Given the description of an element on the screen output the (x, y) to click on. 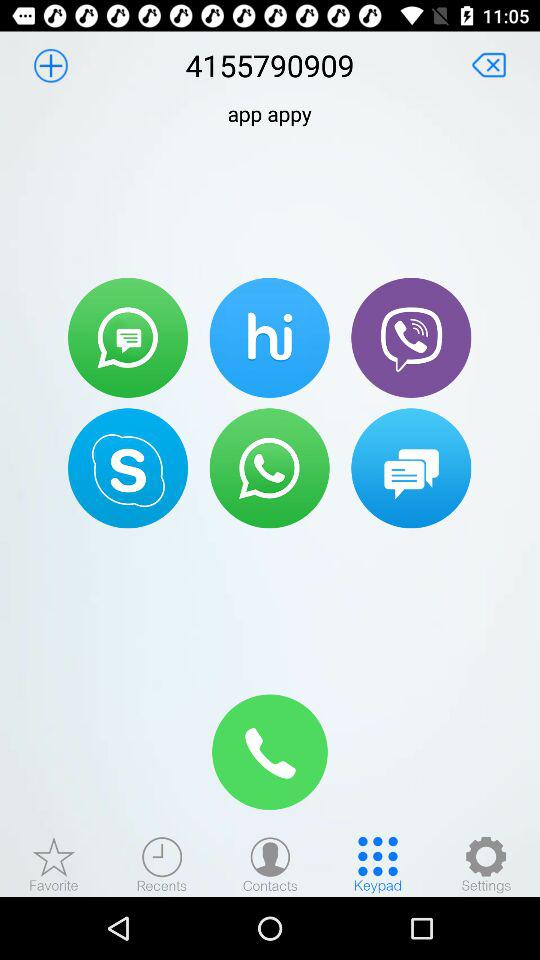
find recents (161, 864)
